Given the description of an element on the screen output the (x, y) to click on. 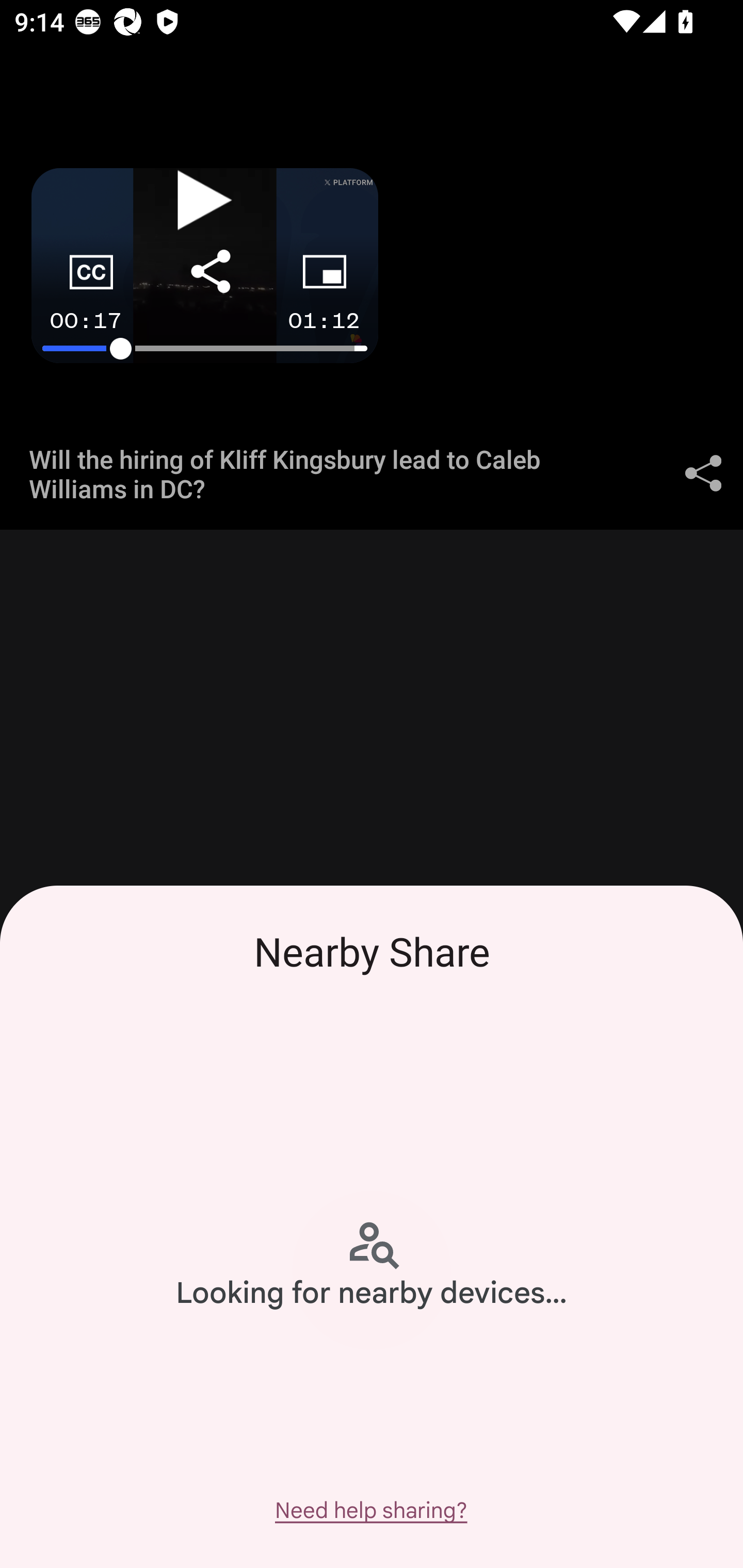
Need help sharing? (370, 1510)
